Given the description of an element on the screen output the (x, y) to click on. 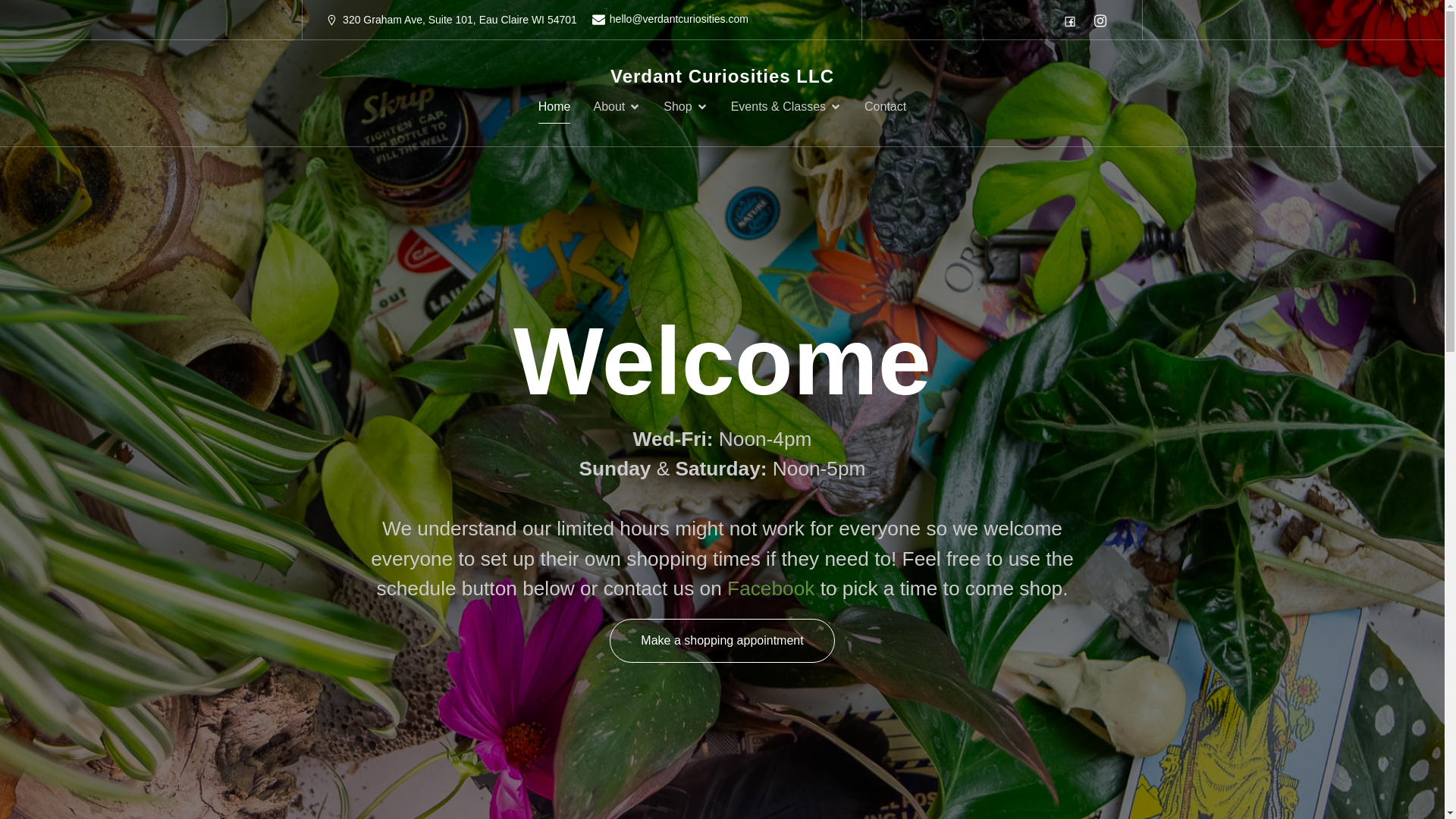
Make a shopping appointment (722, 640)
Shop (685, 106)
Contact (884, 106)
Facebook (769, 588)
Home (554, 106)
Verdant Curiosities LLC (721, 76)
About (616, 106)
